Given the description of an element on the screen output the (x, y) to click on. 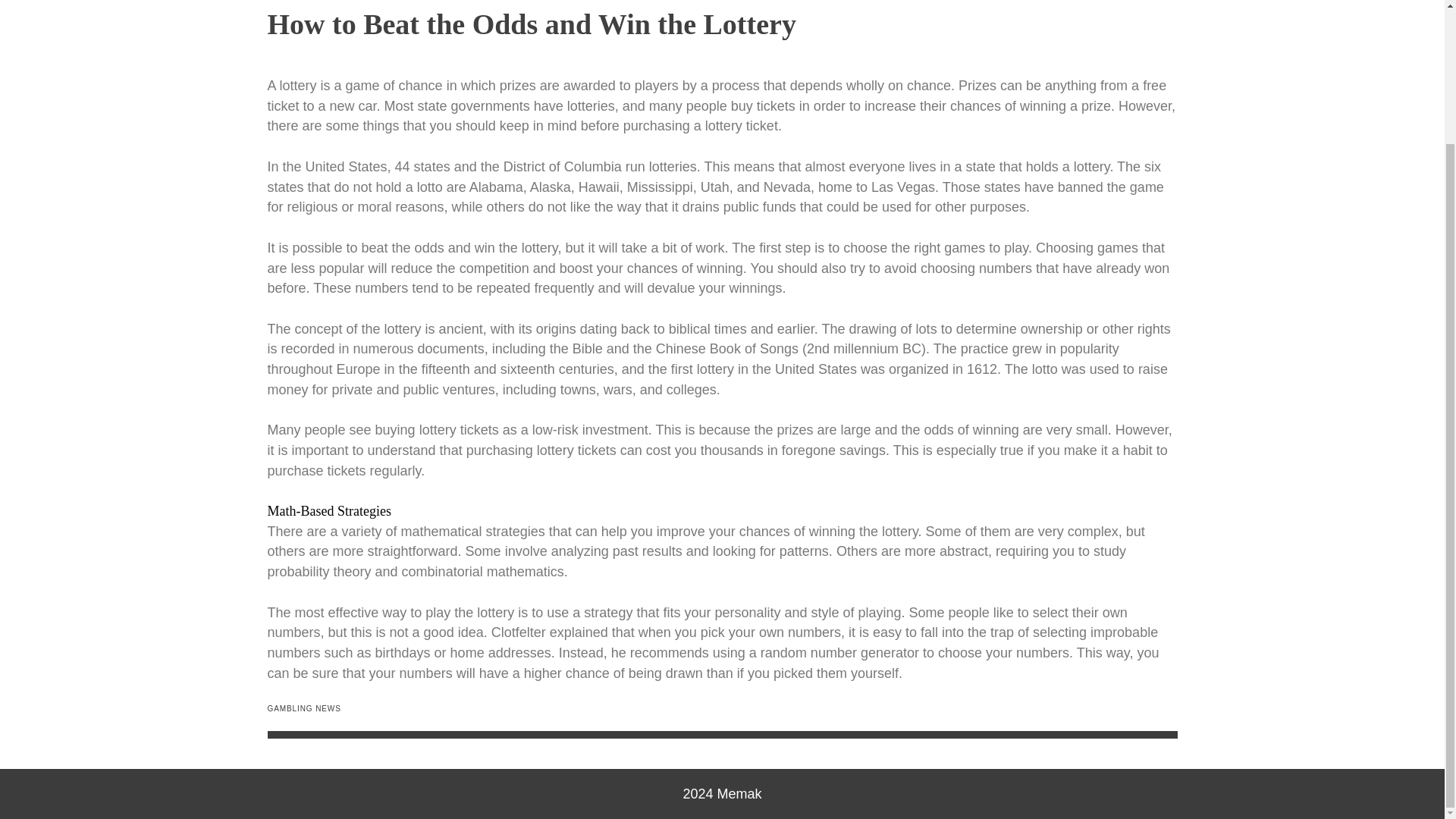
GAMBLING NEWS (303, 708)
